Given the description of an element on the screen output the (x, y) to click on. 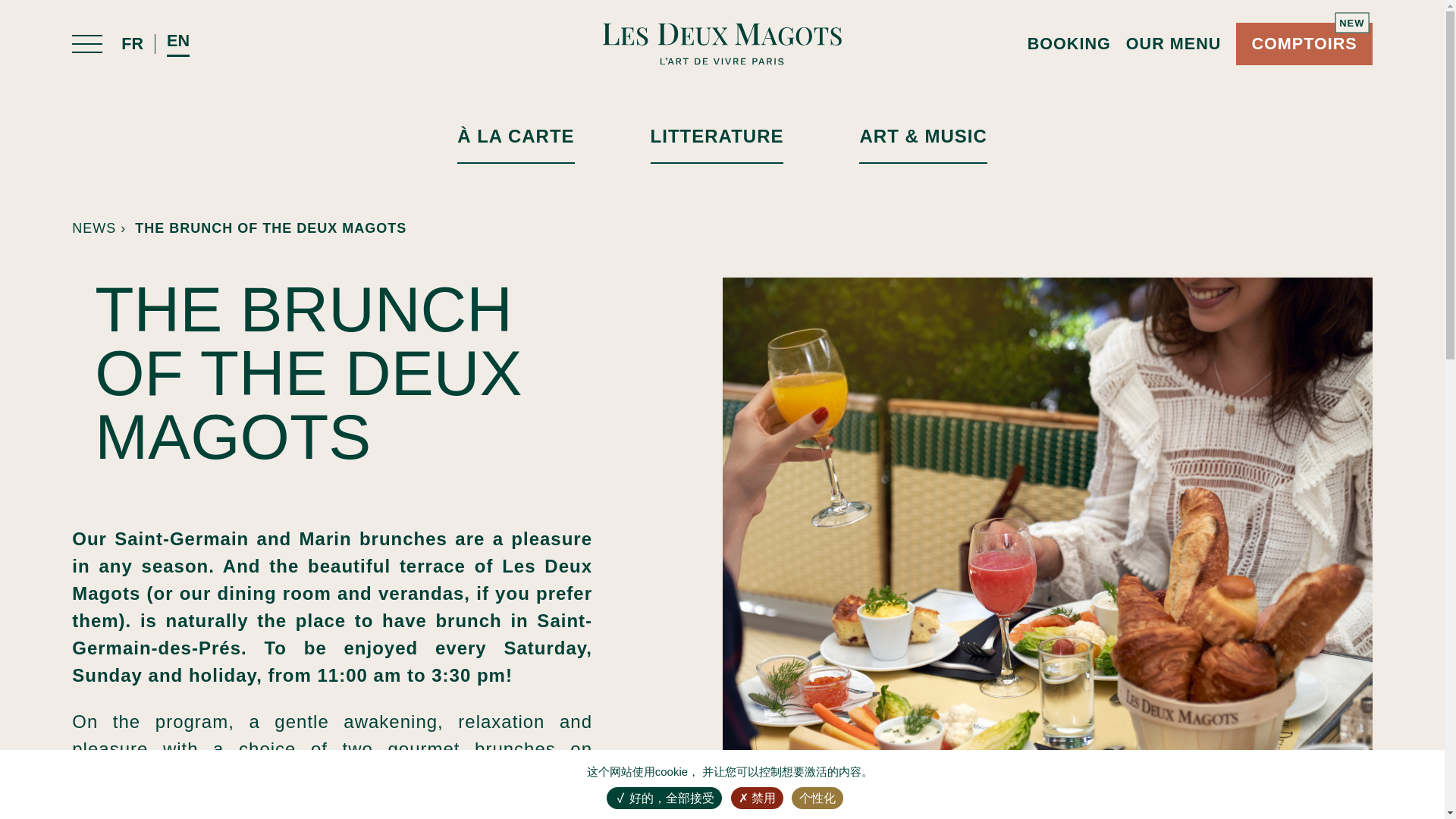
LITTERATURE (717, 144)
OUR MENU (1173, 43)
BOOKING (1303, 43)
FR (1068, 43)
THE BRUNCH OF THE DEUX MAGOTS (131, 44)
FR (270, 227)
